Given the description of an element on the screen output the (x, y) to click on. 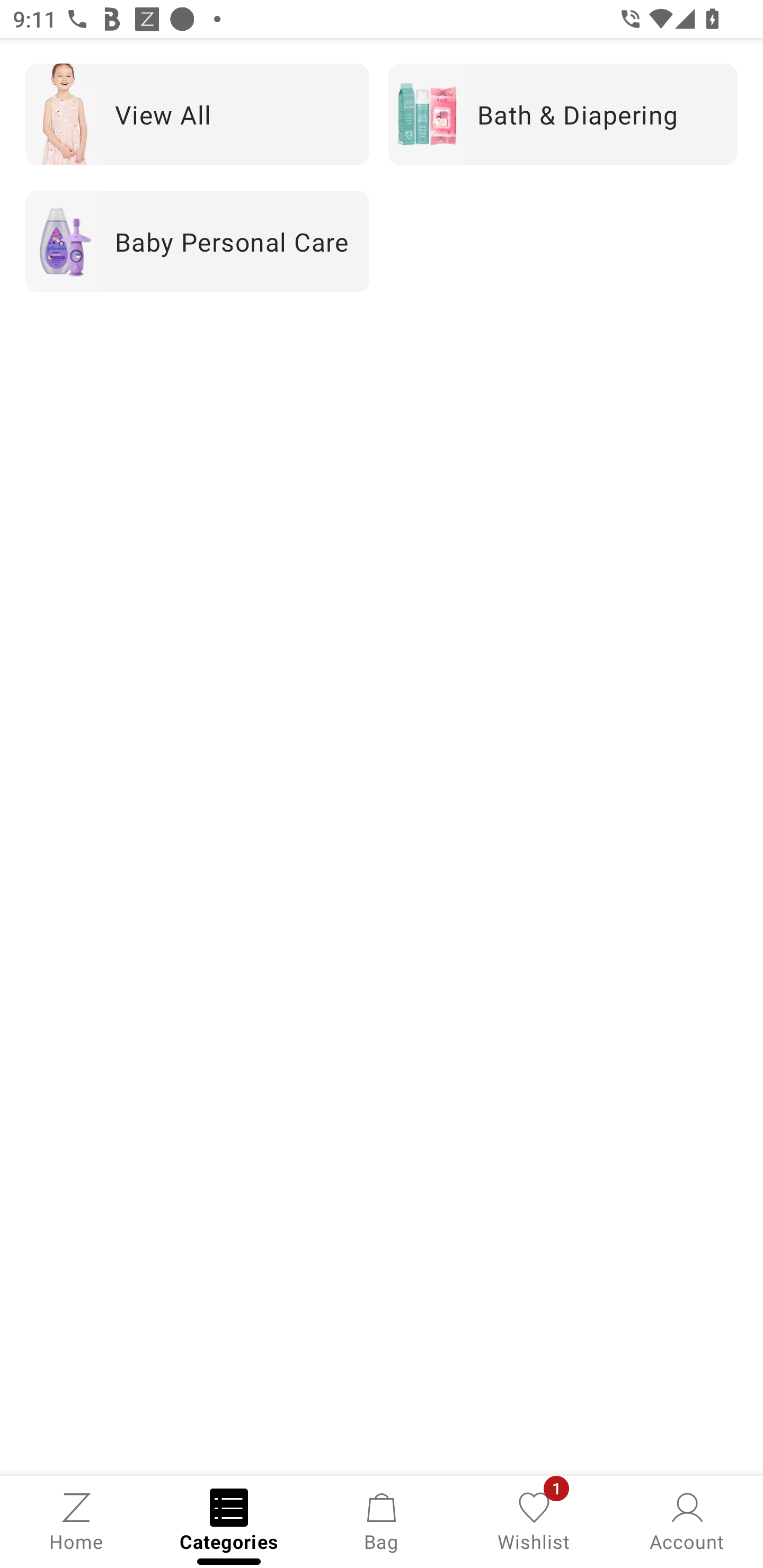
View All (197, 114)
Bath & Diapering (562, 114)
Baby Personal Care (197, 241)
Home (76, 1519)
Bag (381, 1519)
Wishlist, 1 new notification Wishlist (533, 1519)
Account (686, 1519)
